Given the description of an element on the screen output the (x, y) to click on. 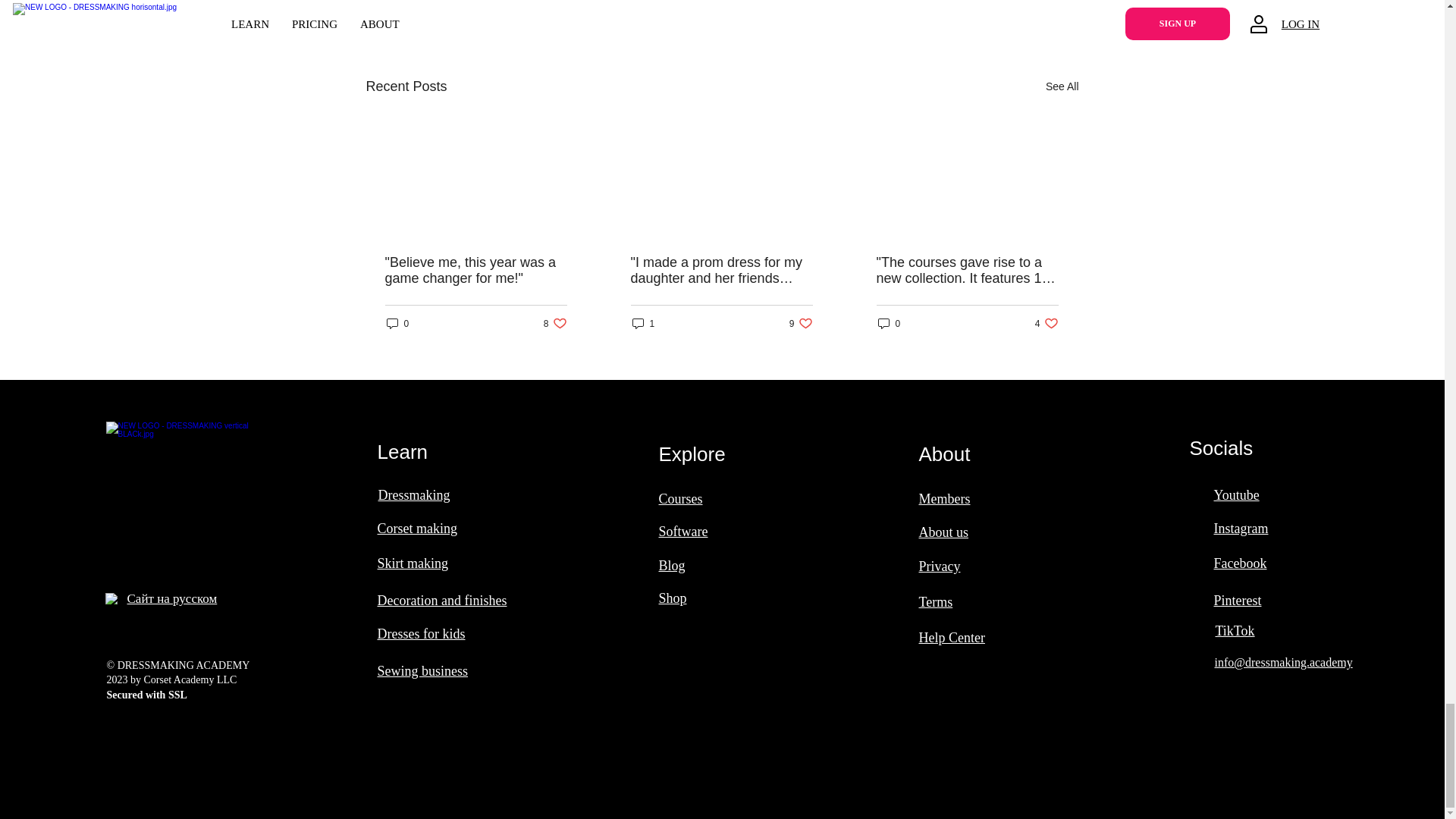
Post not marked as liked (995, 6)
See All (800, 323)
0 (1061, 86)
1 (555, 323)
0 (889, 323)
"Believe me, this year was a game changer for me!" (643, 323)
